Given the description of an element on the screen output the (x, y) to click on. 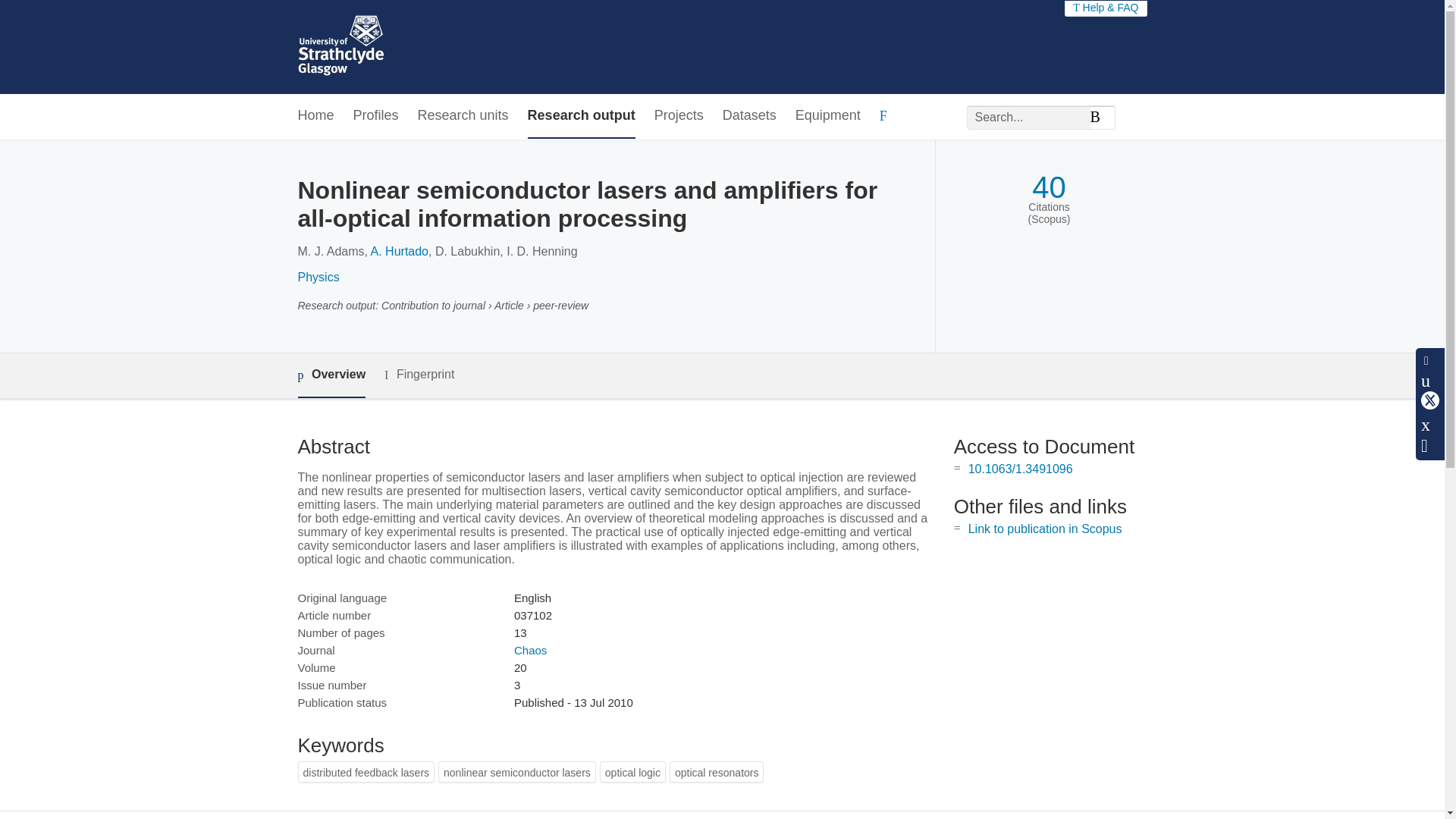
A. Hurtado (399, 250)
Profiles (375, 116)
University of Strathclyde Home (339, 46)
Datasets (749, 116)
Research units (462, 116)
Physics (318, 277)
Overview (331, 375)
Fingerprint (419, 374)
Projects (678, 116)
Home (315, 116)
Chaos (530, 649)
Equipment (827, 116)
40 (1048, 187)
Research output (580, 116)
